Given the description of an element on the screen output the (x, y) to click on. 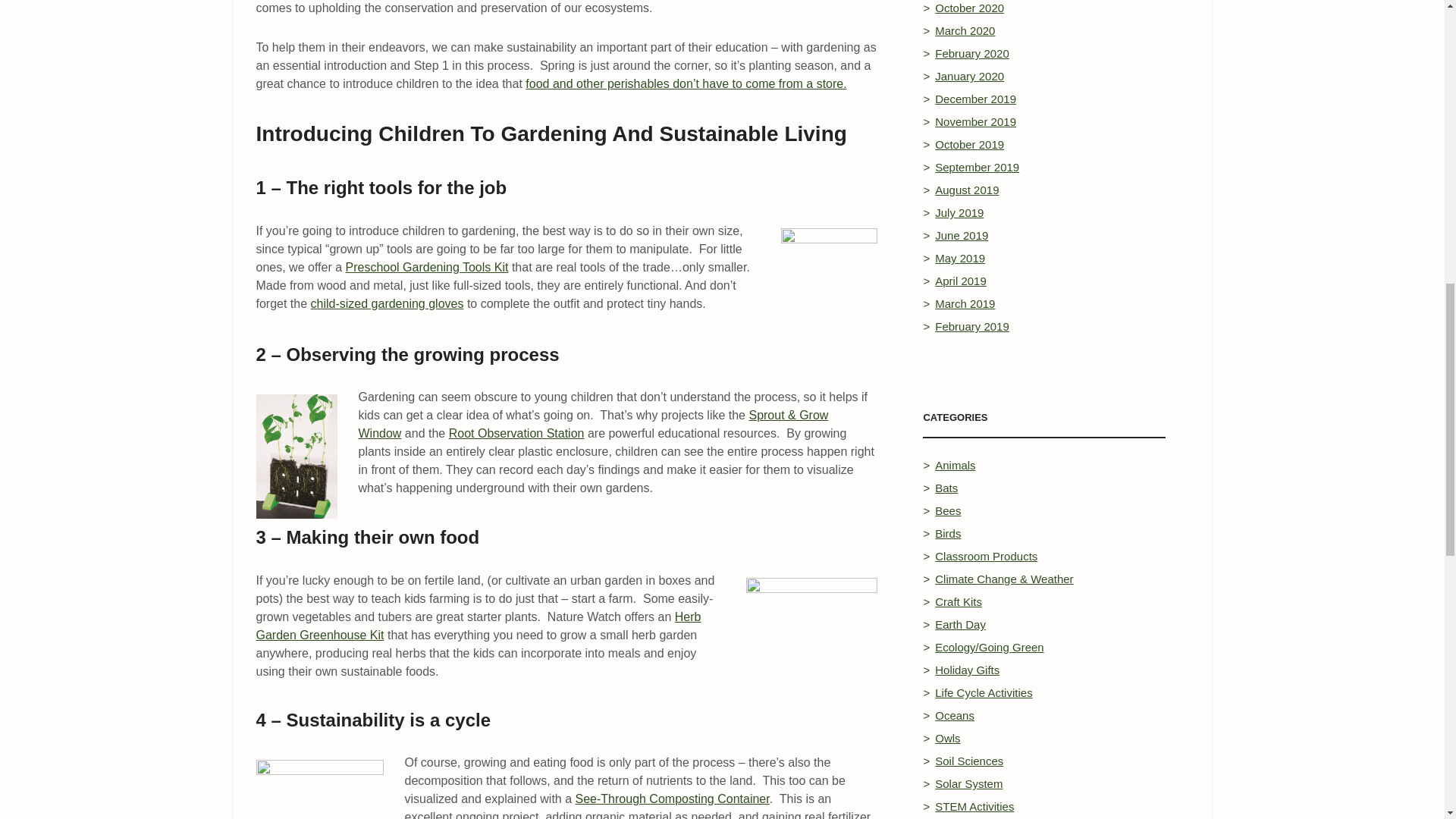
See-Through Composting Container (672, 798)
Root Observation Station (516, 432)
Herb Garden Greenhouse Kit (478, 625)
child-sized gardening gloves (387, 303)
Preschool Gardening Tools Kit (427, 267)
